Given the description of an element on the screen output the (x, y) to click on. 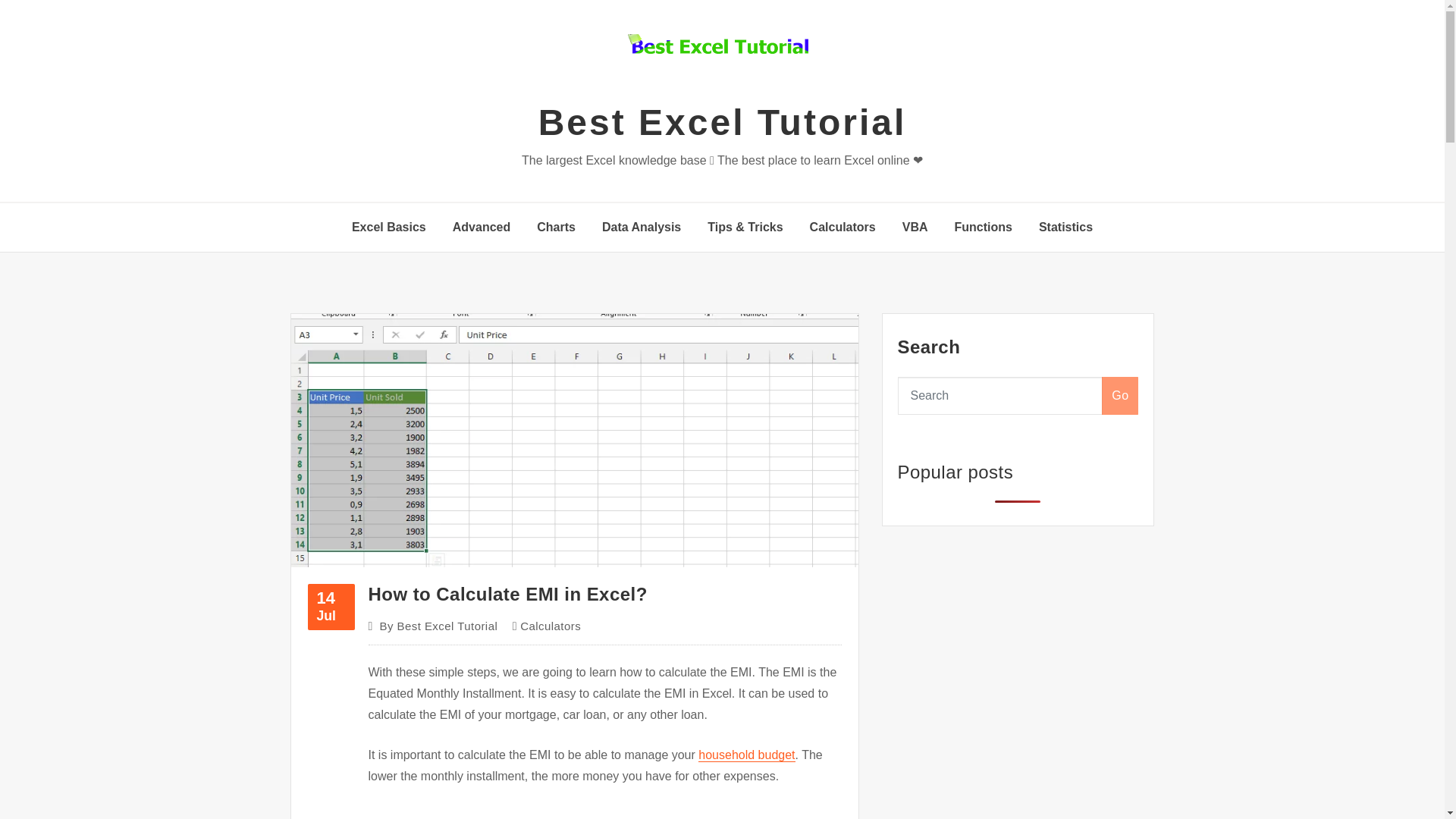
Calculators (842, 226)
VBA (915, 226)
Best Excel Tutorial (722, 122)
Charts (556, 226)
Advanced (481, 226)
Calculators (549, 626)
Functions (982, 226)
Data Analysis (641, 226)
household budget (746, 754)
By Best Excel Tutorial (437, 626)
Excel Basics (330, 606)
Statistics (389, 226)
Go (1066, 226)
